Given the description of an element on the screen output the (x, y) to click on. 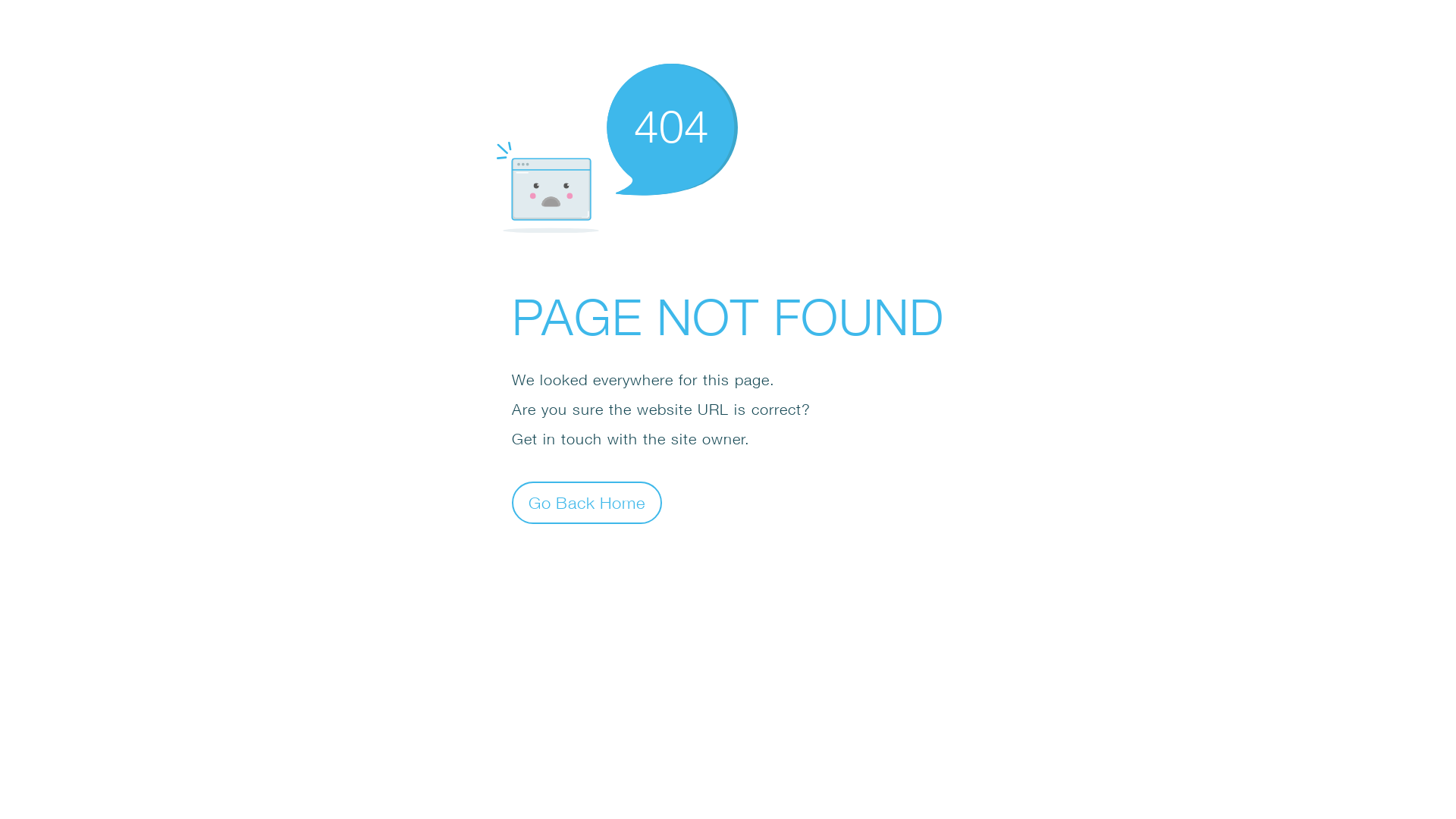
Go Back Home Element type: text (586, 502)
